Given the description of an element on the screen output the (x, y) to click on. 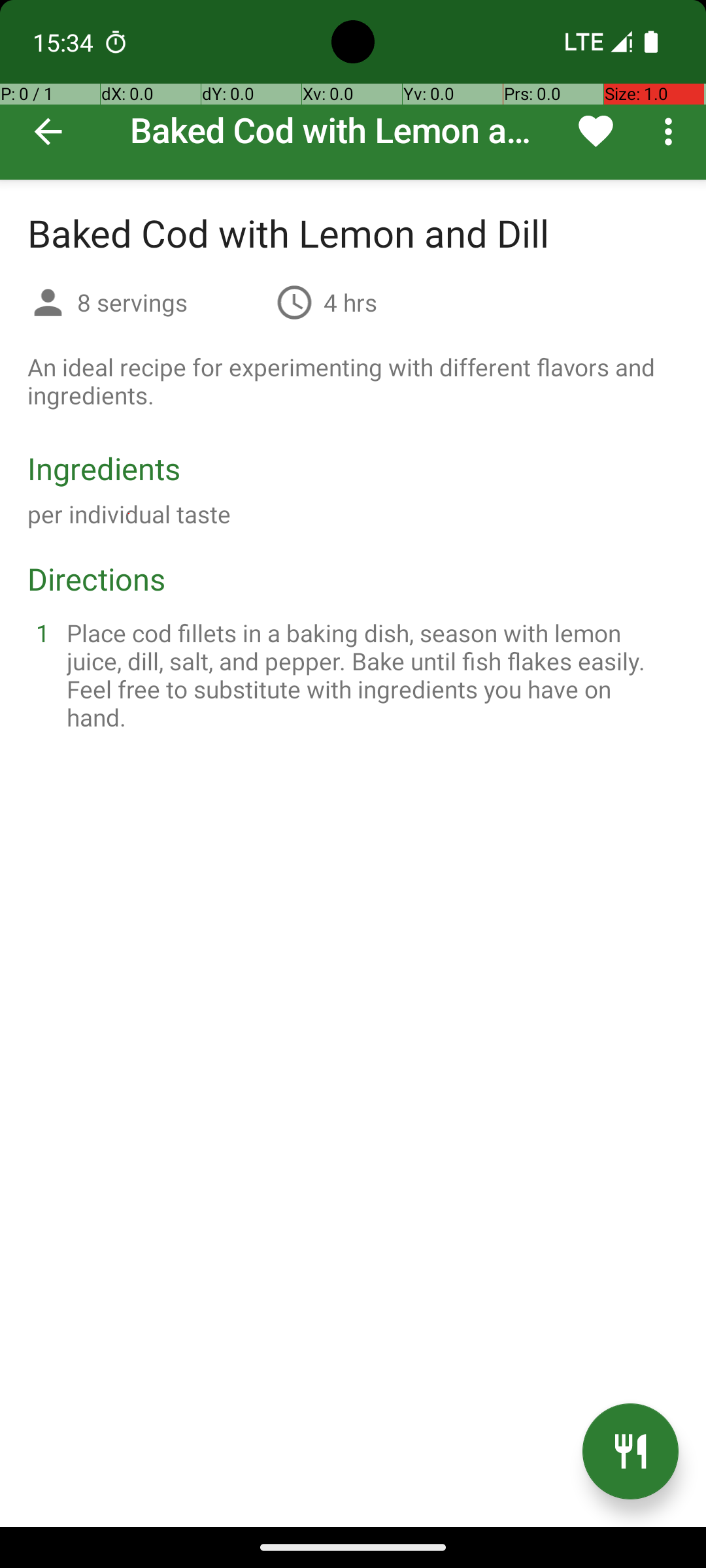
Place cod fillets in a baking dish, season with lemon juice, dill, salt, and pepper. Bake until fish flakes easily. Feel free to substitute with ingredients you have on hand. Element type: android.widget.TextView (368, 674)
